Given the description of an element on the screen output the (x, y) to click on. 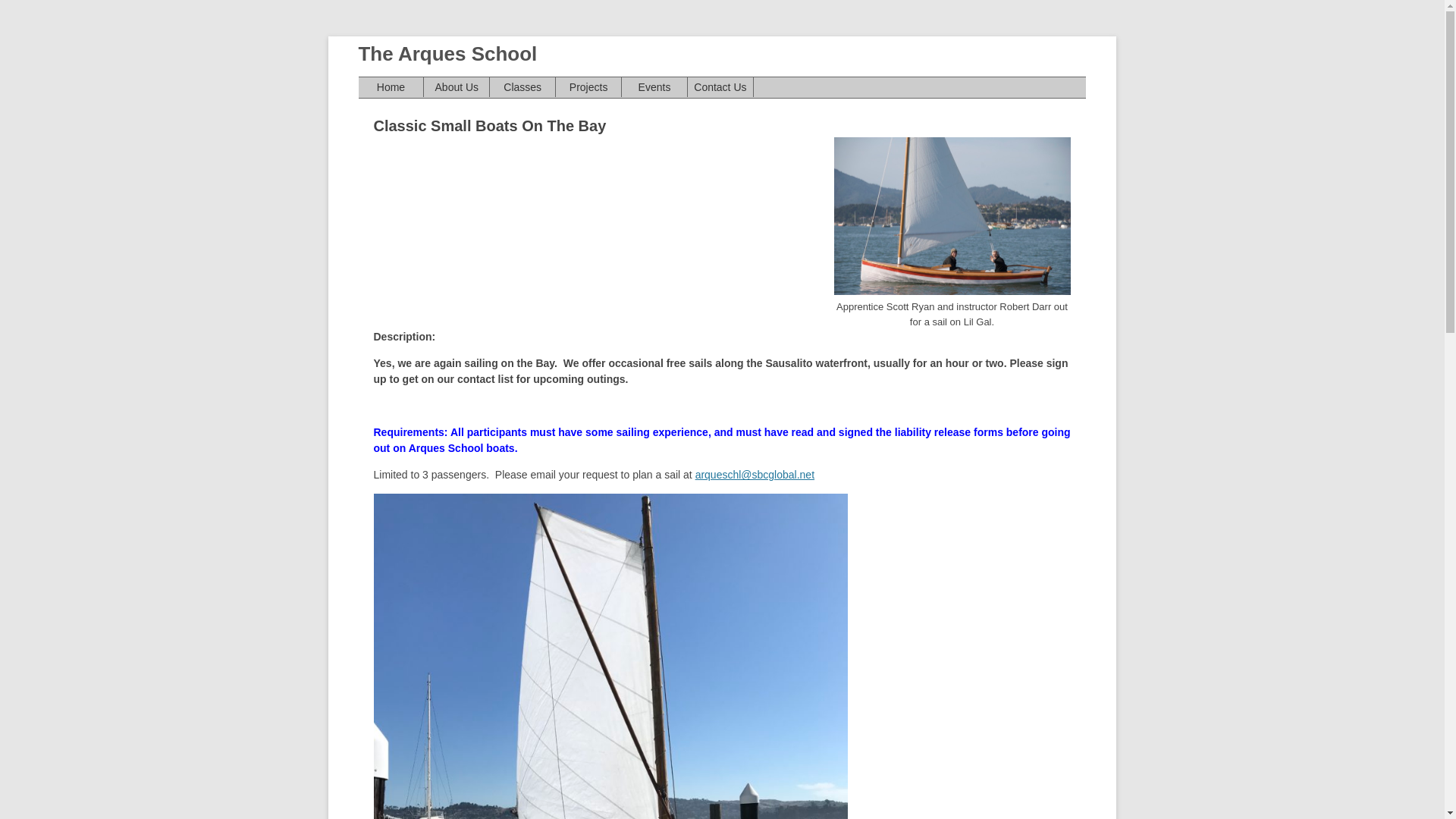
Projects (588, 87)
Contact Us (719, 87)
The Arques School (447, 54)
Skip to content (757, 81)
Events (655, 87)
Skip to content (757, 81)
Home (390, 87)
Classes (522, 87)
The Arques School (447, 54)
About Us (457, 87)
